Given the description of an element on the screen output the (x, y) to click on. 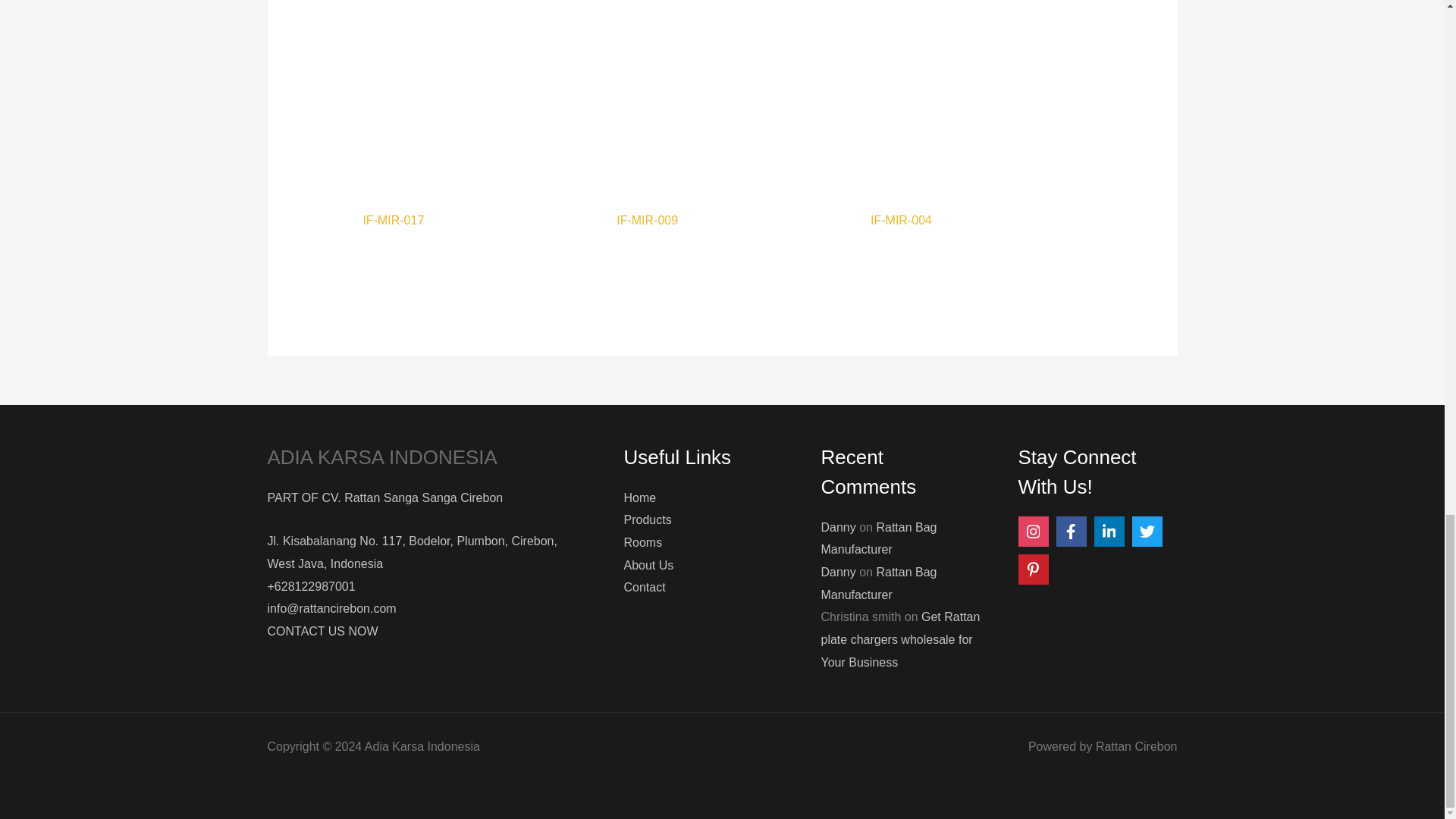
IF-MIR-017 (467, 223)
